Given the description of an element on the screen output the (x, y) to click on. 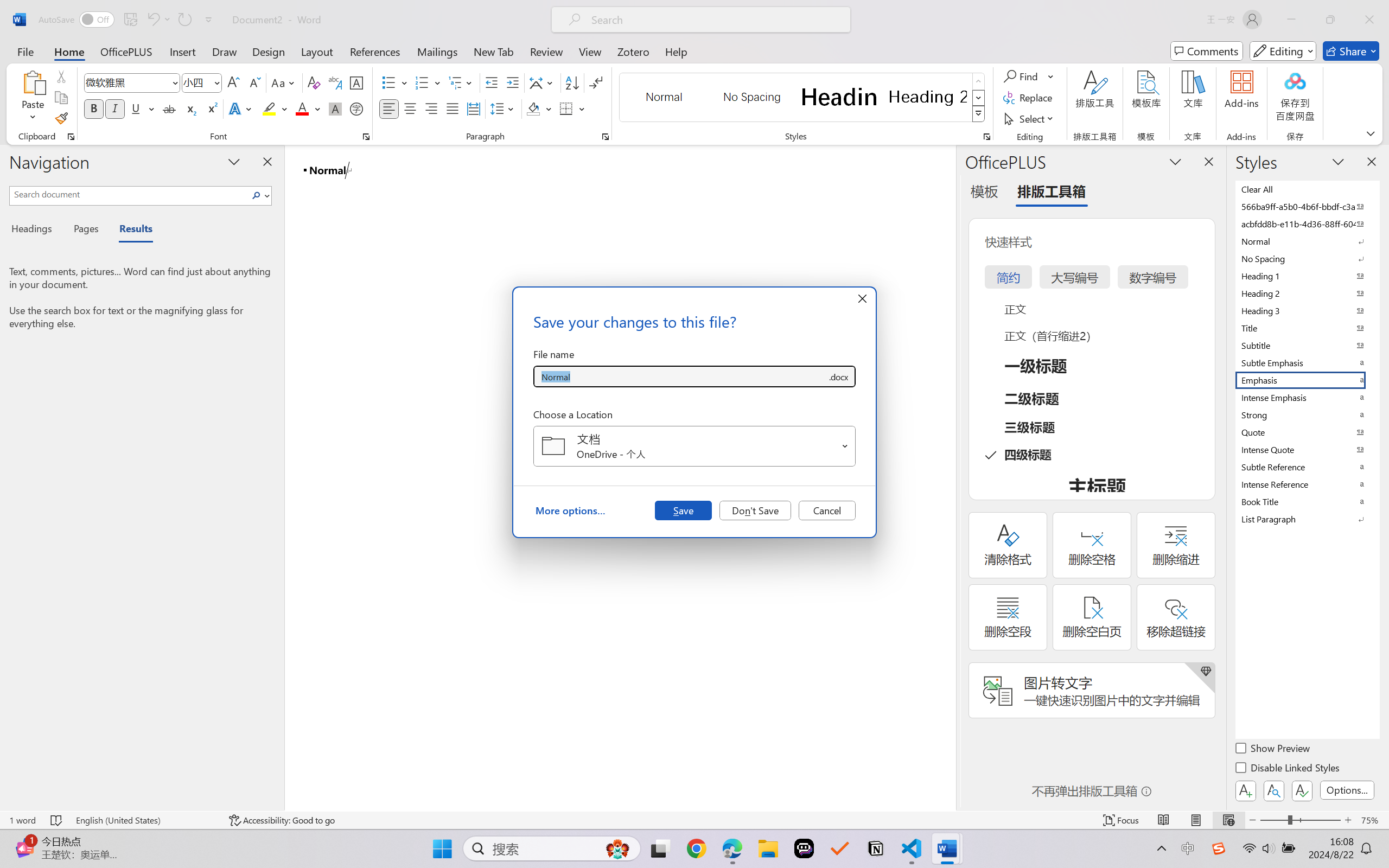
Shrink Font (253, 82)
AutoSave (76, 19)
Emphasis (1306, 379)
Normal (1306, 240)
Home (69, 51)
Italic (115, 108)
Choose a Location (694, 446)
Strong (1306, 414)
Styles... (986, 136)
